Given the description of an element on the screen output the (x, y) to click on. 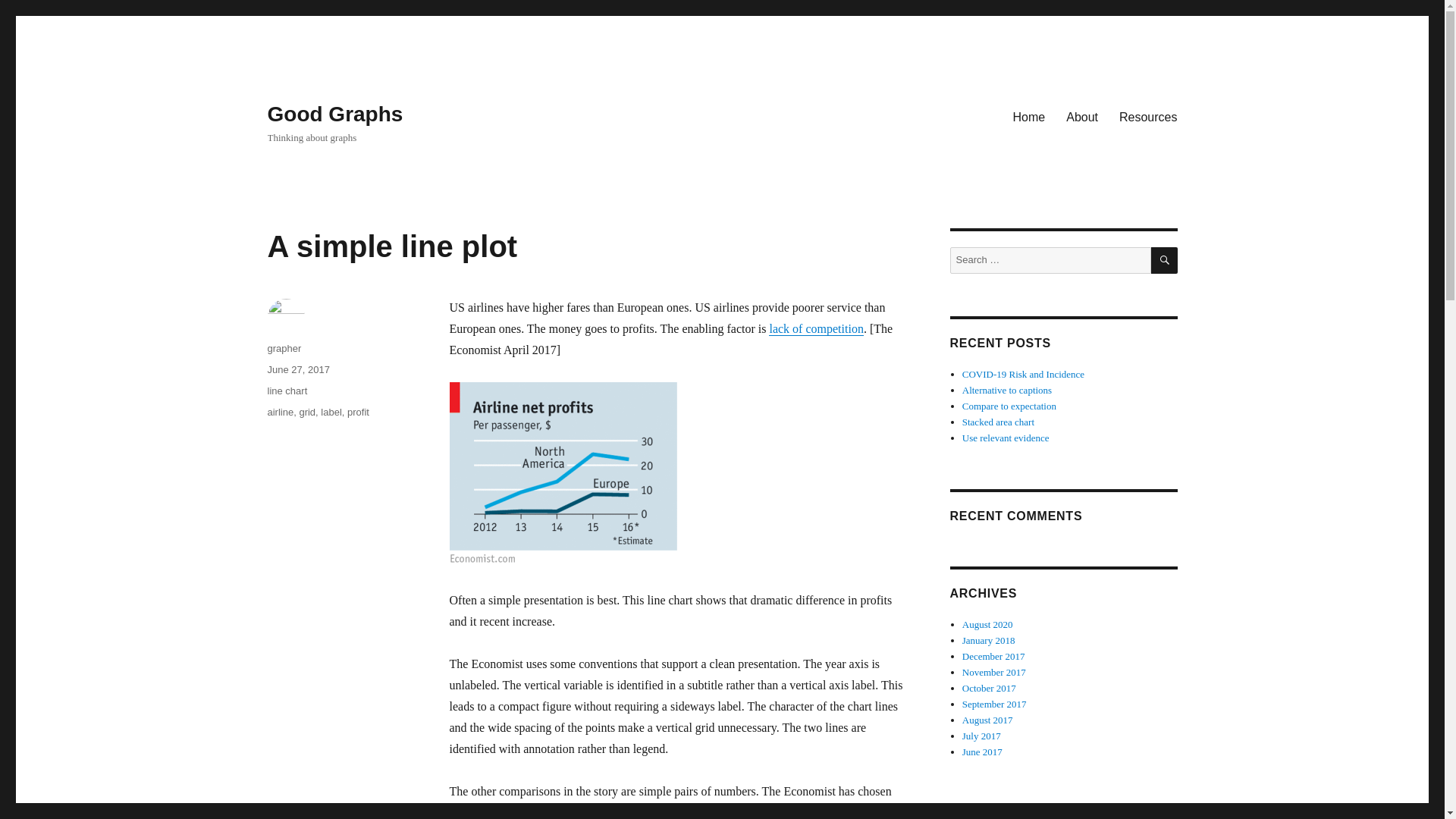
August 2017 (987, 719)
airline (280, 411)
Resources (1148, 116)
December 2017 (993, 655)
line chart (286, 390)
July 2017 (981, 736)
Home (1030, 116)
COVID-19 Risk and Incidence (1023, 374)
June 27, 2017 (297, 369)
Stacked area chart (997, 421)
grapher (283, 348)
Alternative to captions (1006, 389)
January 2018 (988, 640)
SEARCH (1164, 260)
September 2017 (994, 704)
